Given the description of an element on the screen output the (x, y) to click on. 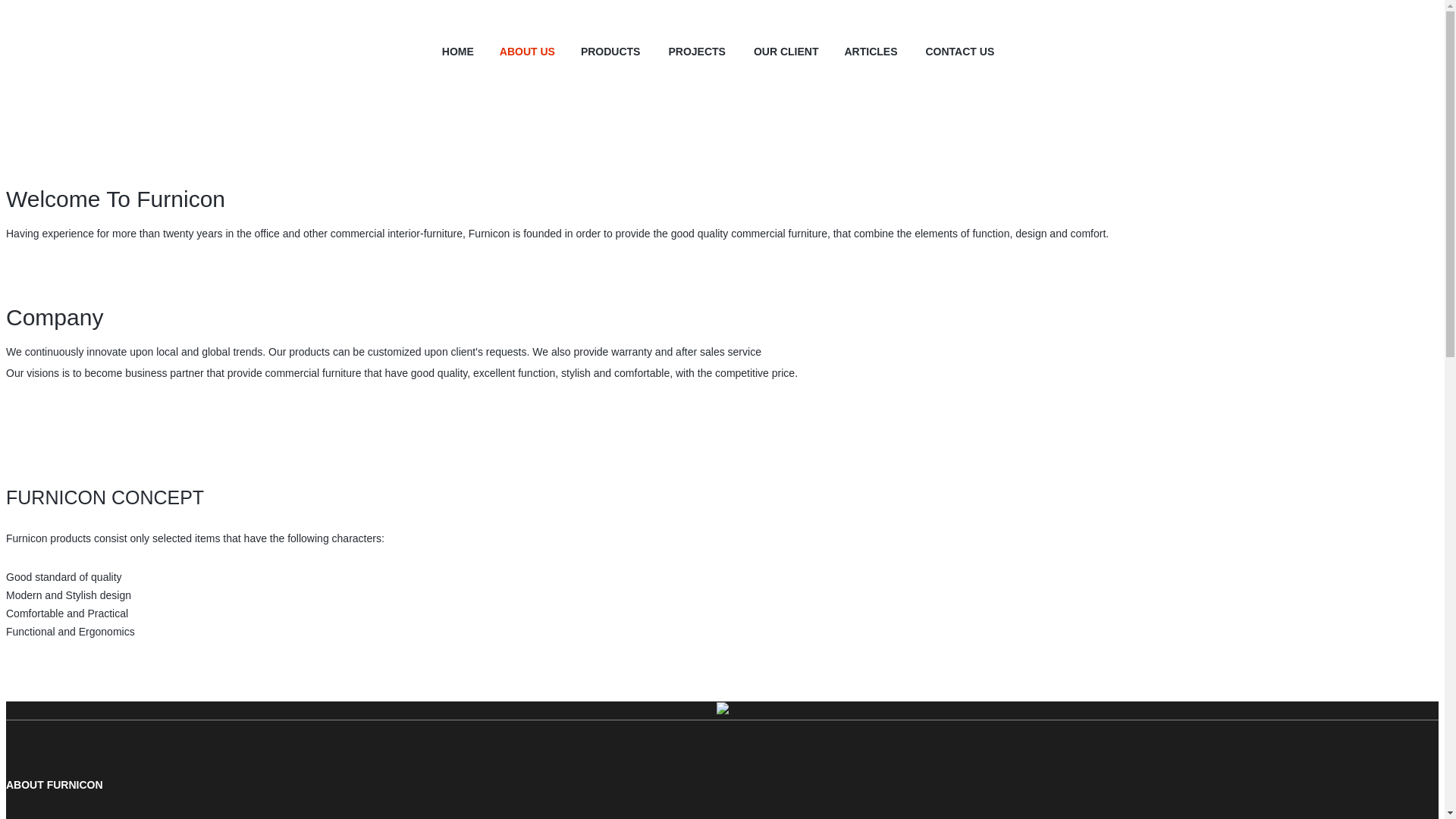
ABOUT US (526, 51)
PROJECTS (697, 51)
HOME (457, 51)
PRODUCTS (611, 51)
